Given the description of an element on the screen output the (x, y) to click on. 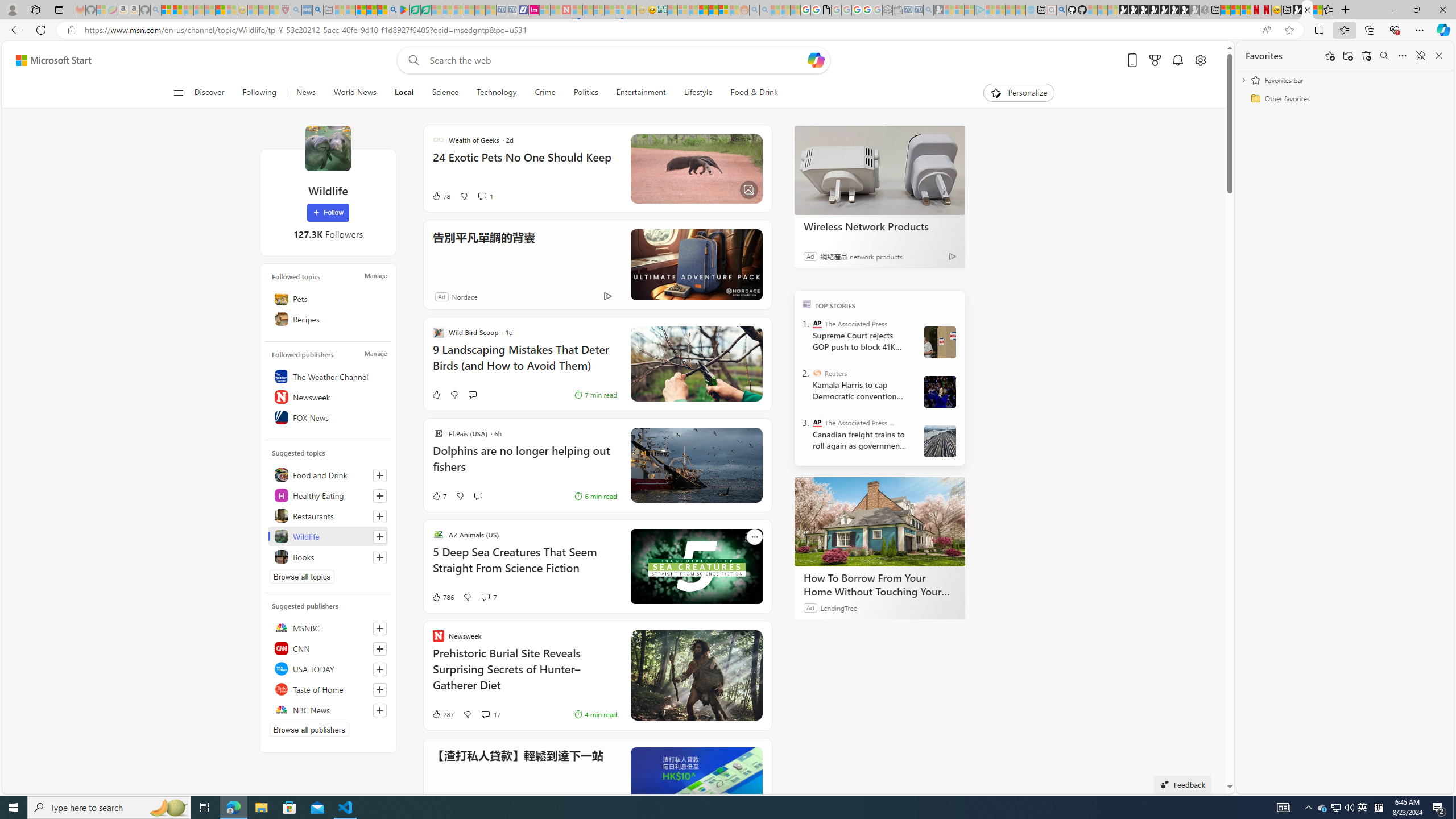
7 Like (438, 495)
Browse all publishers (309, 729)
